Given the description of an element on the screen output the (x, y) to click on. 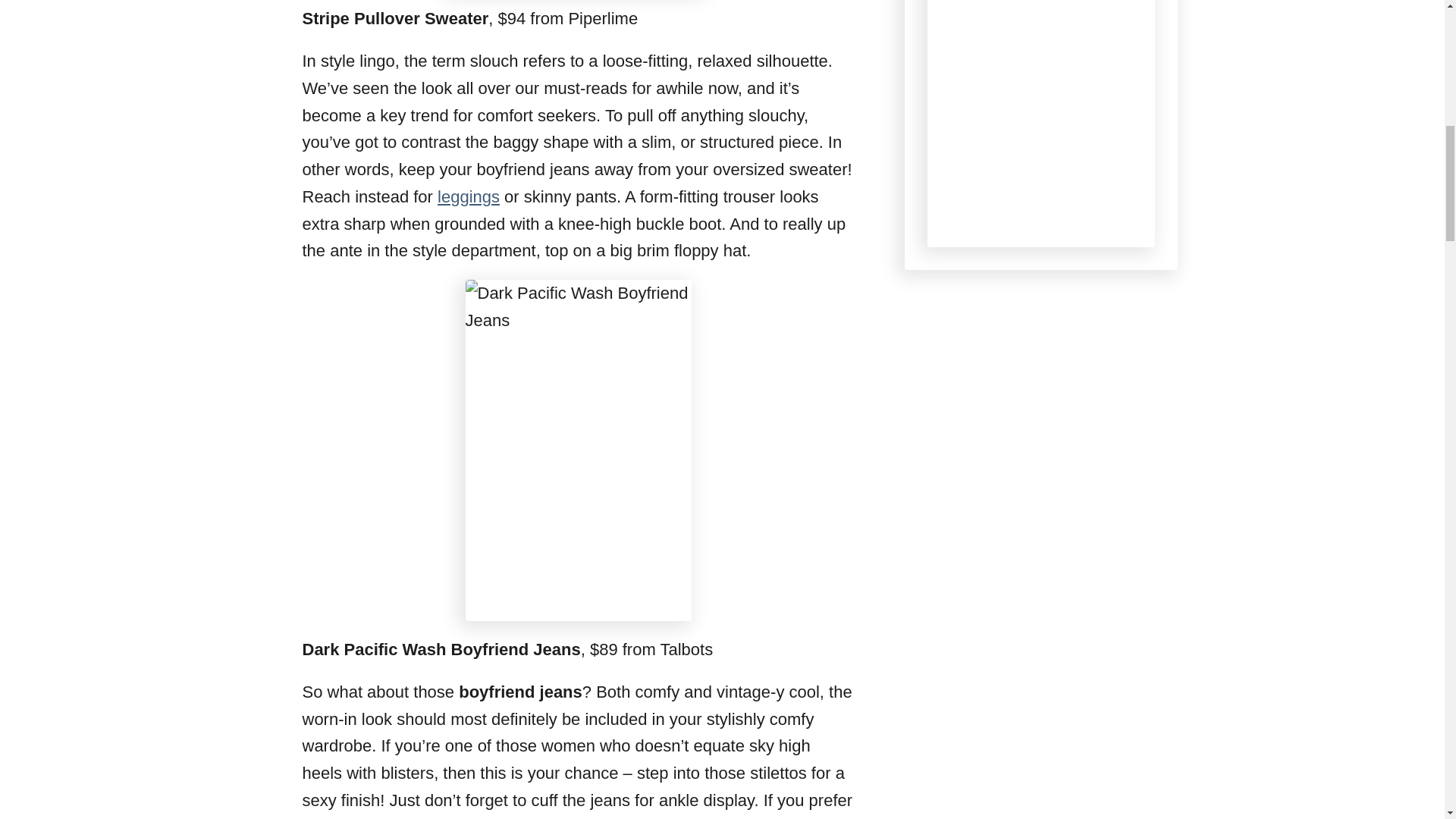
leggings (468, 196)
